Given the description of an element on the screen output the (x, y) to click on. 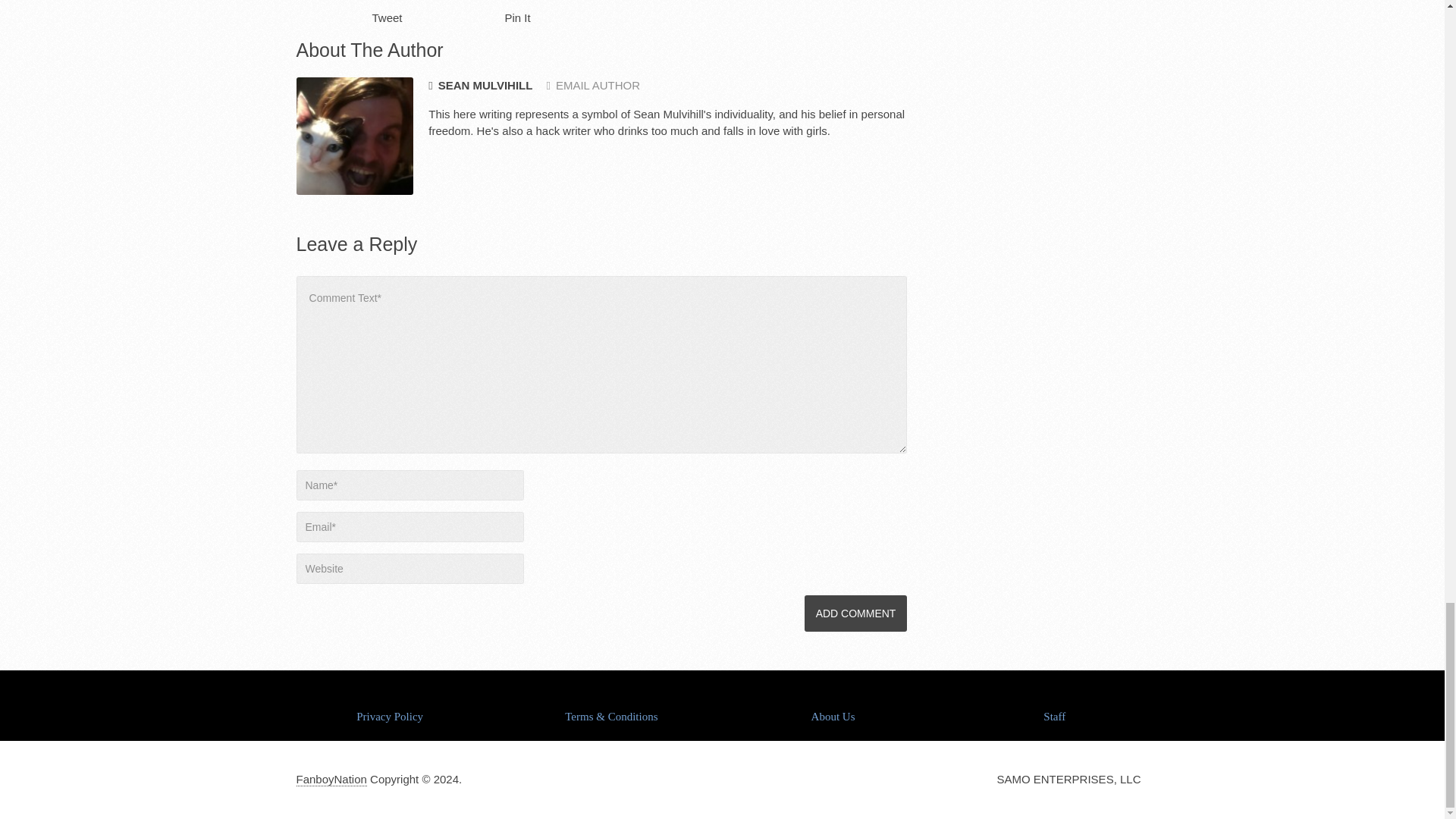
Add Comment (856, 613)
Add Comment (856, 613)
EMAIL AUTHOR (593, 84)
Pin It (518, 17)
SEAN MULVIHILL (480, 85)
Tweet (386, 17)
